Given the description of an element on the screen output the (x, y) to click on. 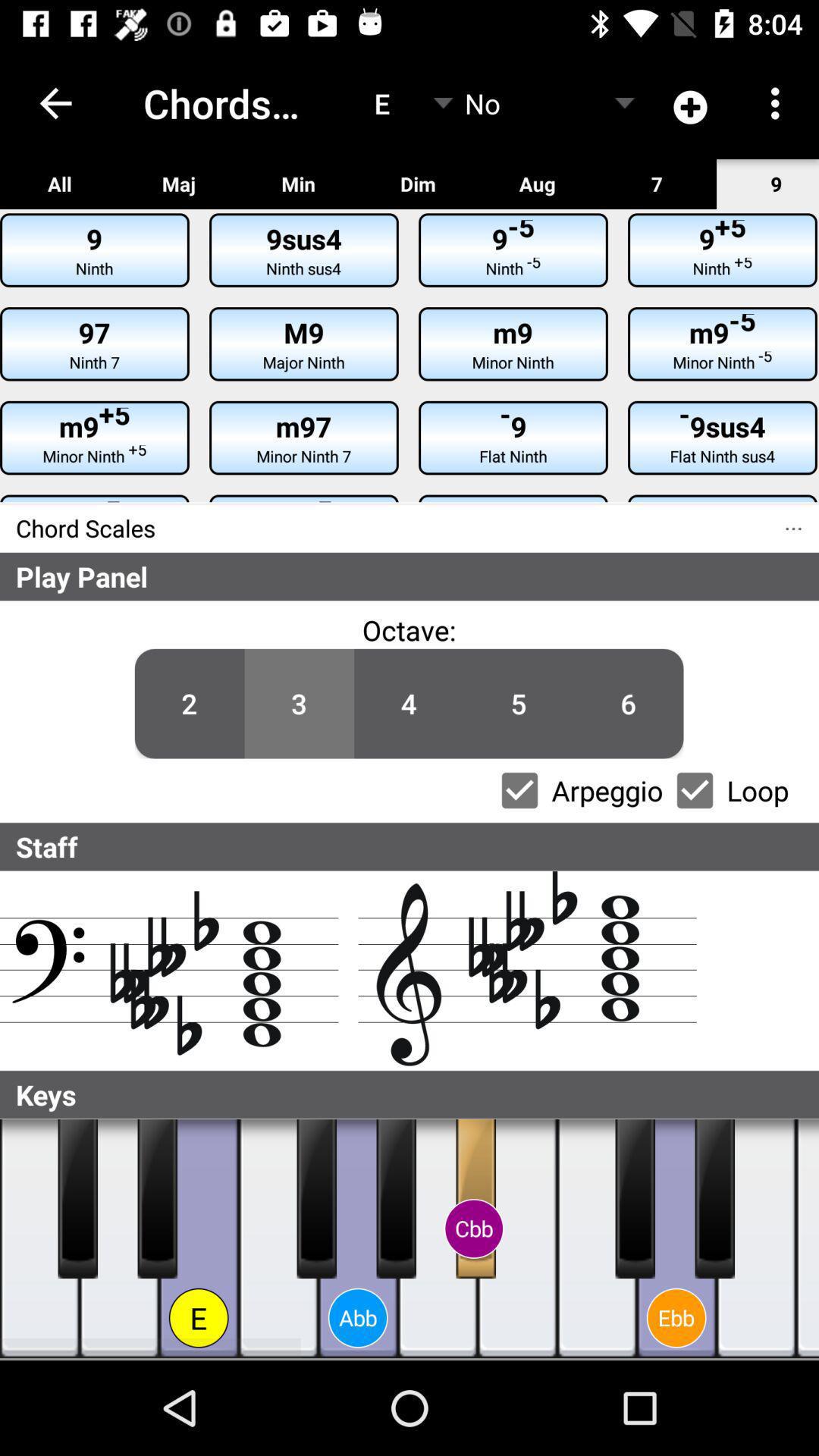
play note (316, 1198)
